Given the description of an element on the screen output the (x, y) to click on. 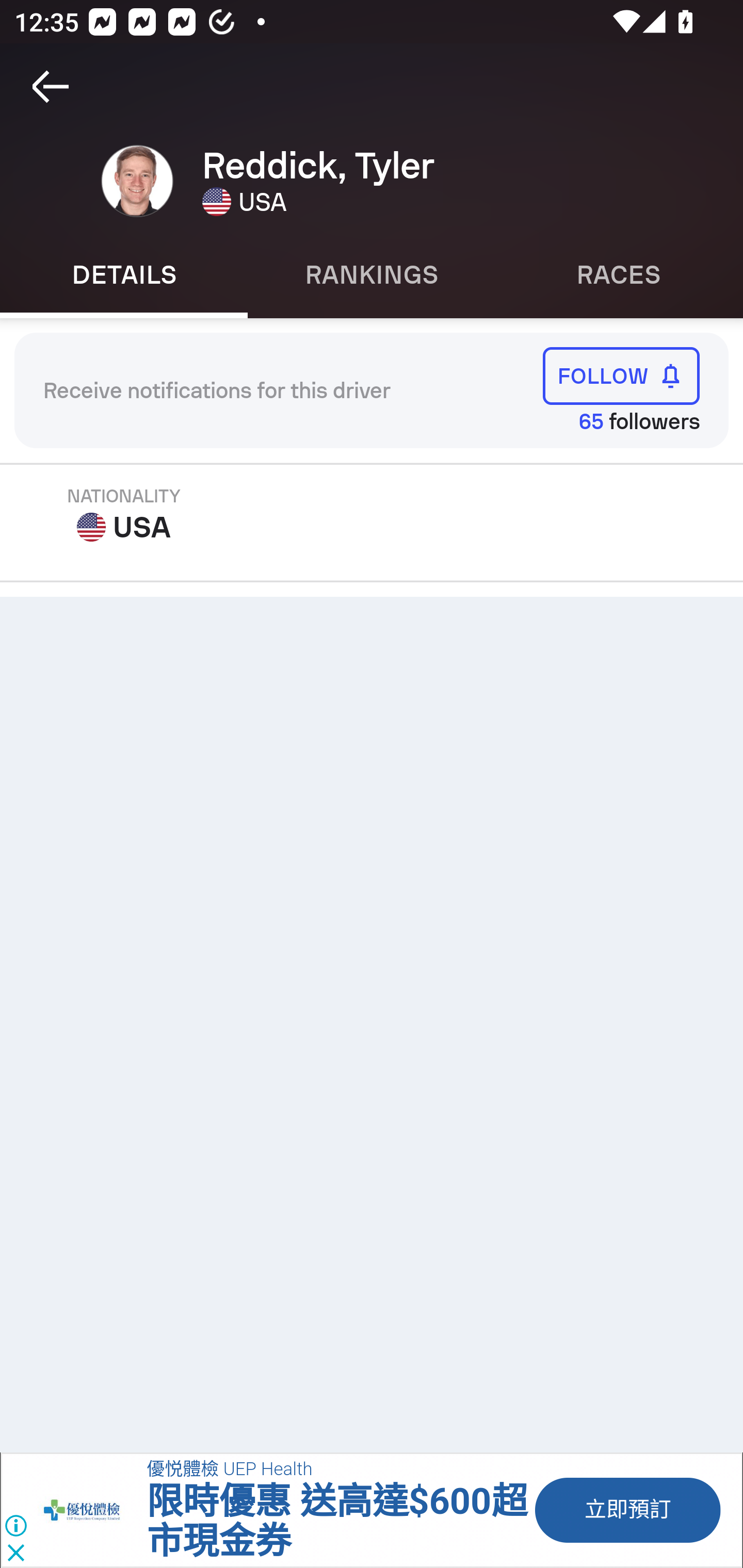
Navigate up (50, 86)
Rankings RANKINGS (371, 275)
Races RACES (619, 275)
FOLLOW (621, 375)
NATIONALITY USA (123, 515)
優悦體檢 UEP Health (228, 1469)
www.healthcheck-hk (92, 1509)
立即預訂 (626, 1509)
限時優惠 送高達$600超 市現金券 限時優惠 送高達$600超 市現金券 (335, 1521)
